Given the description of an element on the screen output the (x, y) to click on. 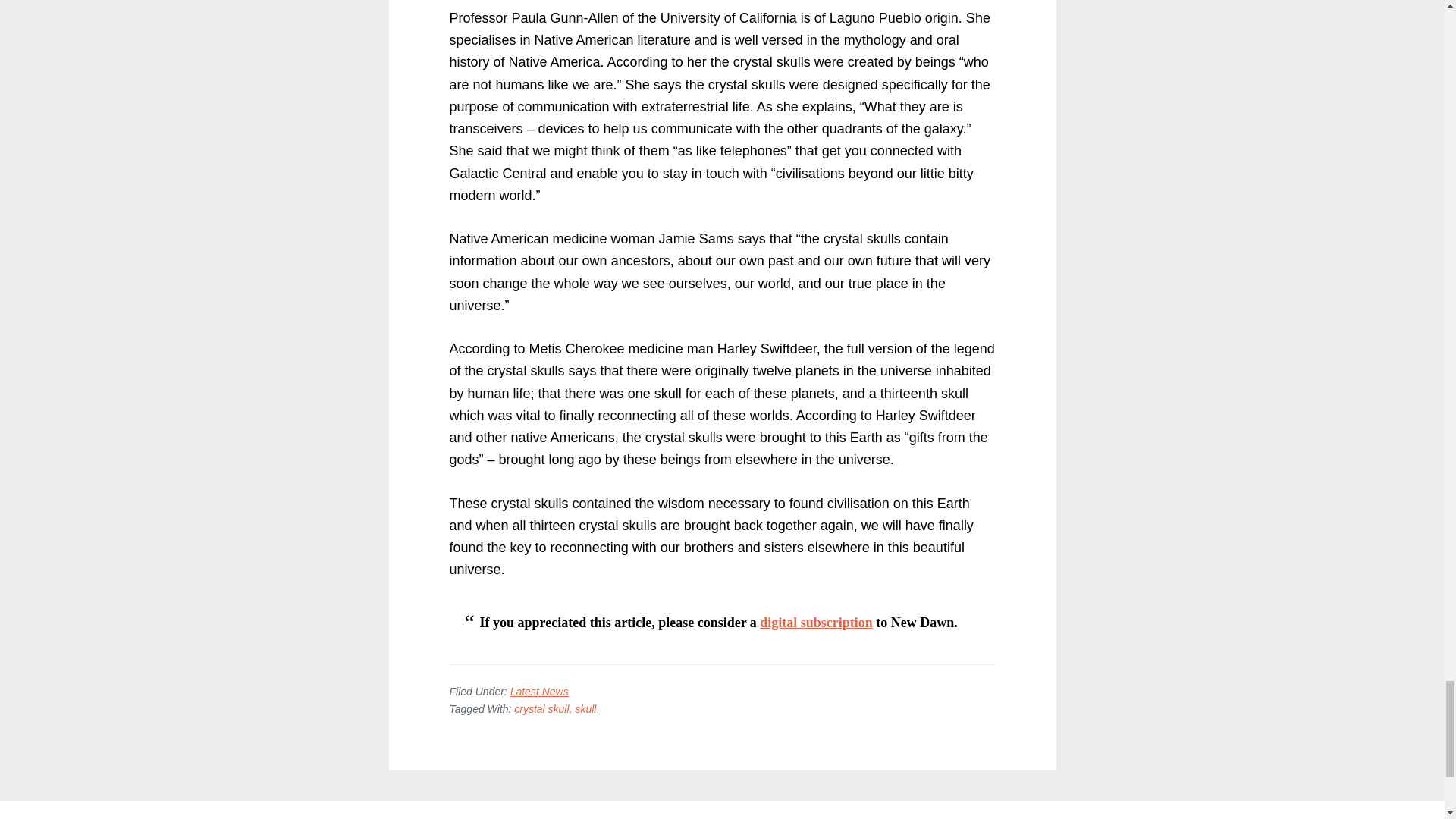
digital subscription (816, 622)
skull (585, 708)
Latest News (540, 691)
crystal skull (541, 708)
